Given the description of an element on the screen output the (x, y) to click on. 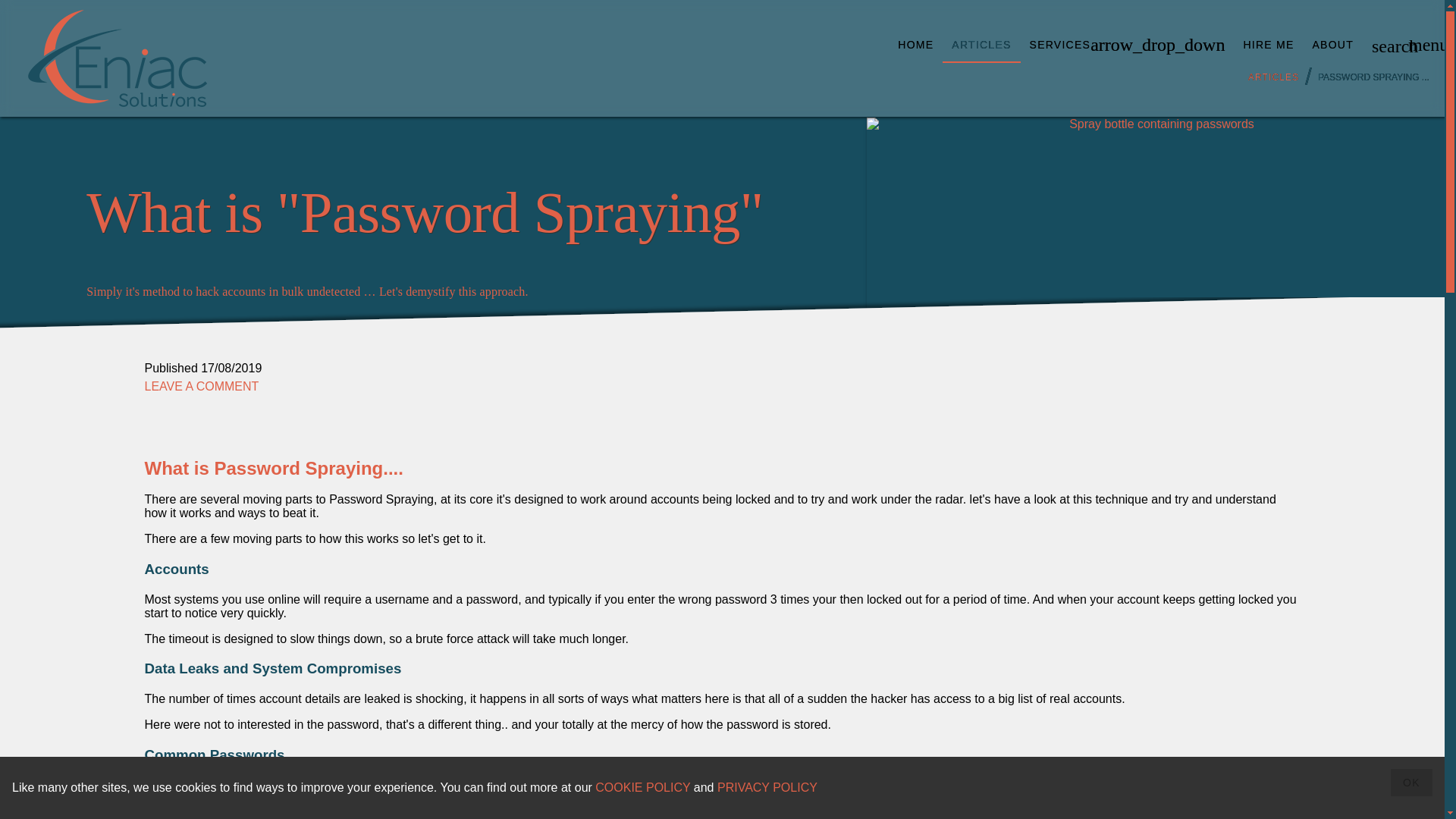
Wi-Fi and Network Security Solutions (117, 57)
HOME (915, 43)
HIRE ME (1268, 43)
OK (1411, 782)
ABOUT (1332, 43)
search (1380, 43)
COOKIE POLICY (642, 787)
menu (1417, 43)
LEAVE A COMMENT (201, 386)
ARTICLES (981, 43)
